Given the description of an element on the screen output the (x, y) to click on. 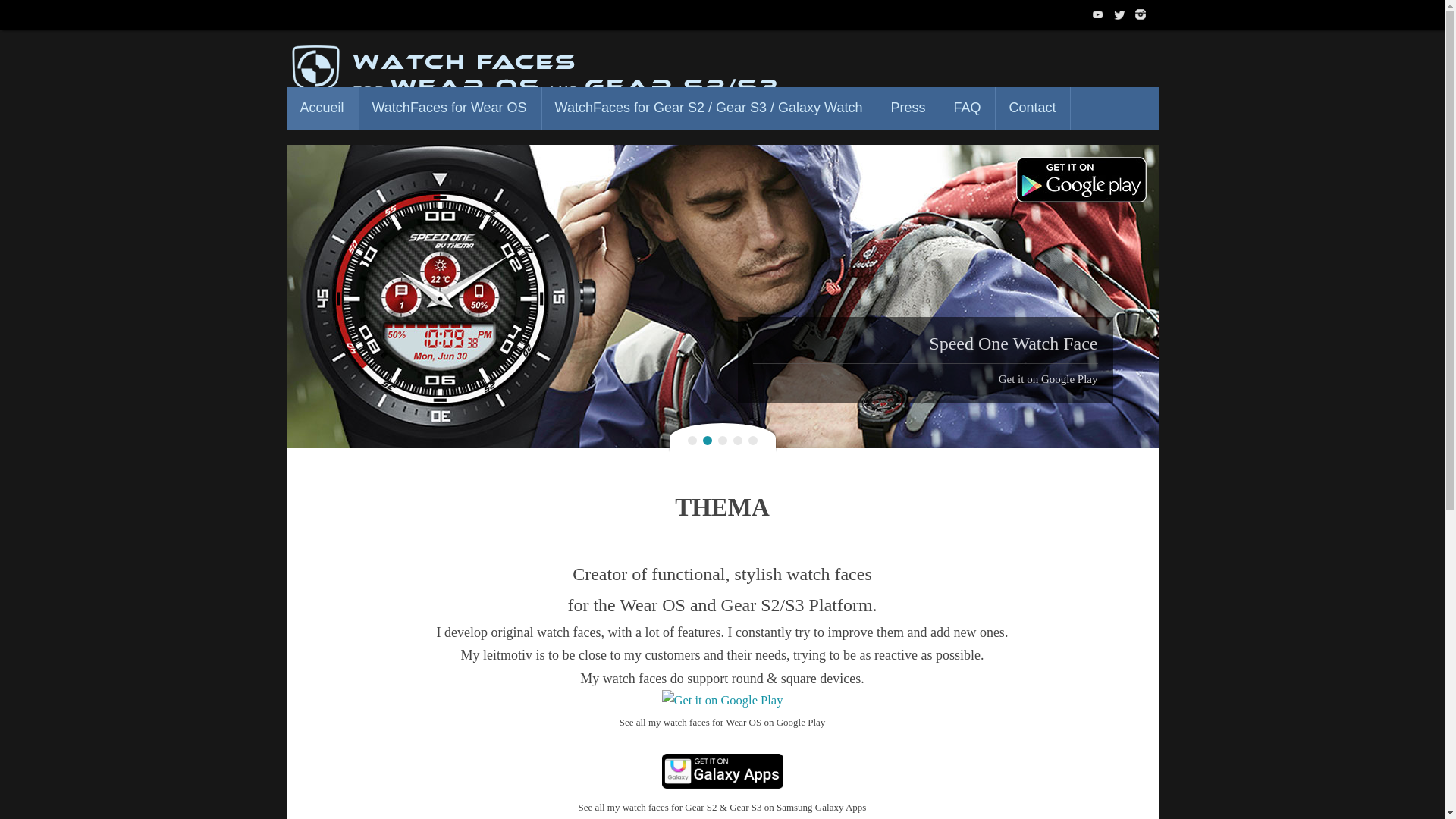
Thema Watch Faces (559, 75)
Get it on Google Play (1047, 379)
2 (706, 440)
FAQ (966, 107)
Twitter (1118, 14)
Press (907, 107)
Contact (1032, 107)
Accueil (322, 107)
Instagram (1140, 14)
4 (736, 440)
YouTube (1097, 14)
WatchFaces for Wear OS (449, 107)
3 (721, 440)
1 (691, 440)
5 (752, 440)
